Given the description of an element on the screen output the (x, y) to click on. 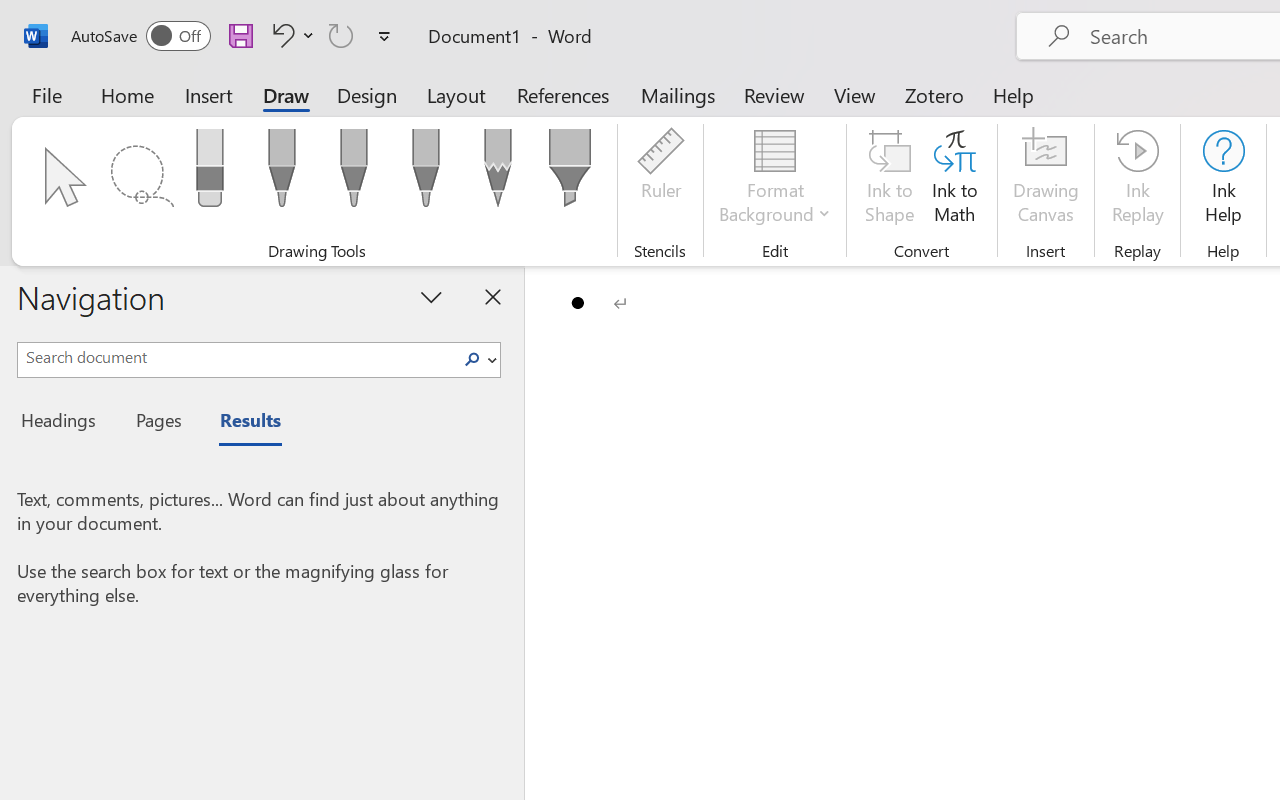
Ruler (660, 179)
Headings (64, 423)
Ink to Math (954, 179)
Pen: Red, 0.5 mm (353, 173)
Pages (156, 423)
Ink to Shape (889, 179)
Undo Bullet Default (290, 35)
Pen: Galaxy, 1 mm (426, 173)
